Given the description of an element on the screen output the (x, y) to click on. 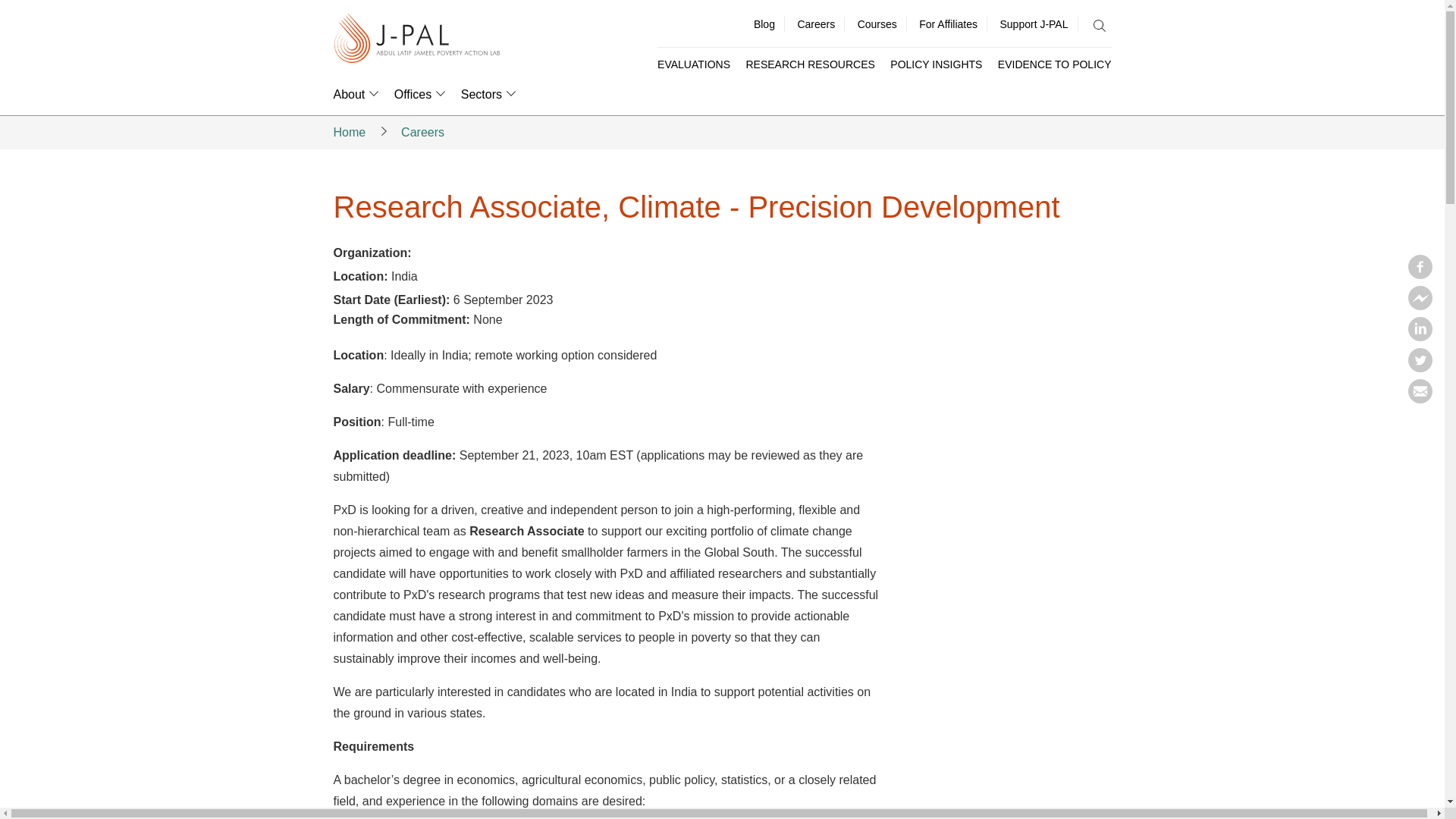
Linkedin (1419, 336)
Facebook messenger (1419, 305)
Email (1419, 399)
Twitter (1419, 367)
J-PAL (416, 39)
Facebook (1419, 274)
